Given the description of an element on the screen output the (x, y) to click on. 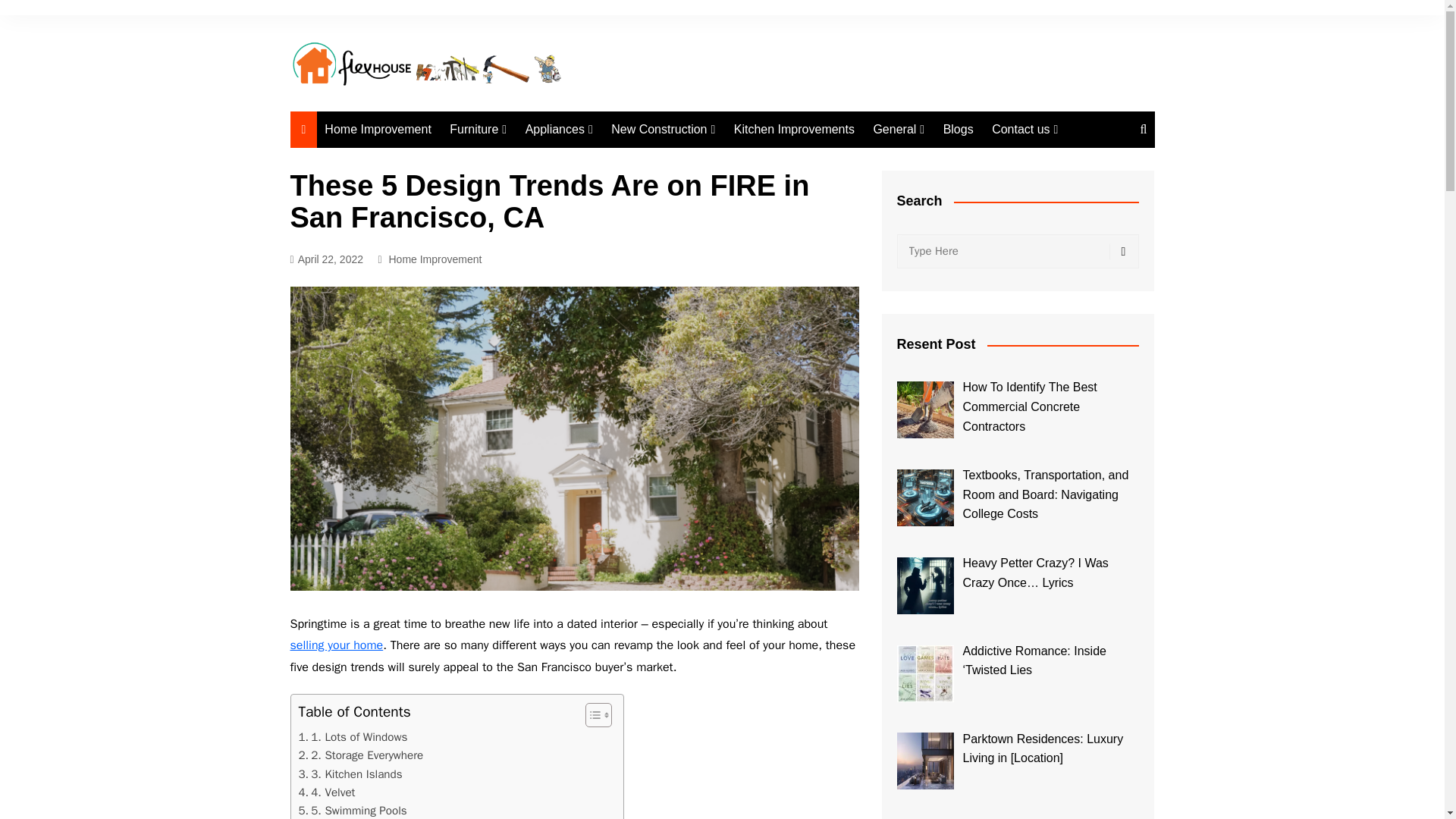
1. Lots of Windows (352, 737)
Landscaper (687, 248)
Blogs (958, 129)
4. Velvet (326, 791)
2. Storage Everywhere (360, 755)
Home Improvement (434, 258)
Home Inspections (687, 160)
Landscaping Outdoor Decorating (687, 191)
1. Lots of Windows (352, 737)
Furniture (477, 129)
3. Kitchen Islands (350, 773)
Heating and Air Conditioning (601, 166)
Home Improvement (378, 129)
